Given the description of an element on the screen output the (x, y) to click on. 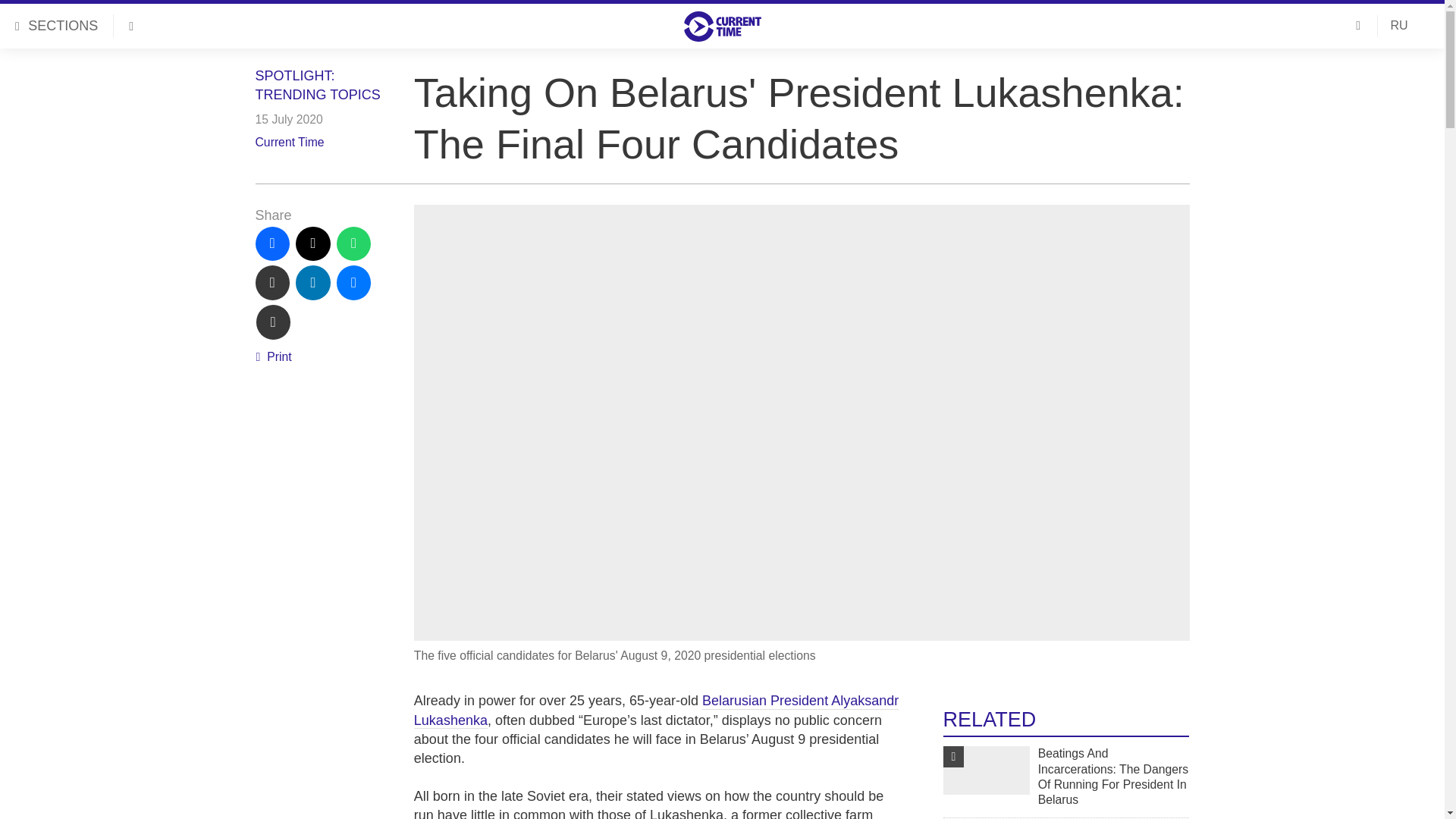
Current Time (288, 141)
text (273, 321)
SPOTLIGHT: TRENDING TOPICS (317, 84)
RU (1399, 25)
